Given the description of an element on the screen output the (x, y) to click on. 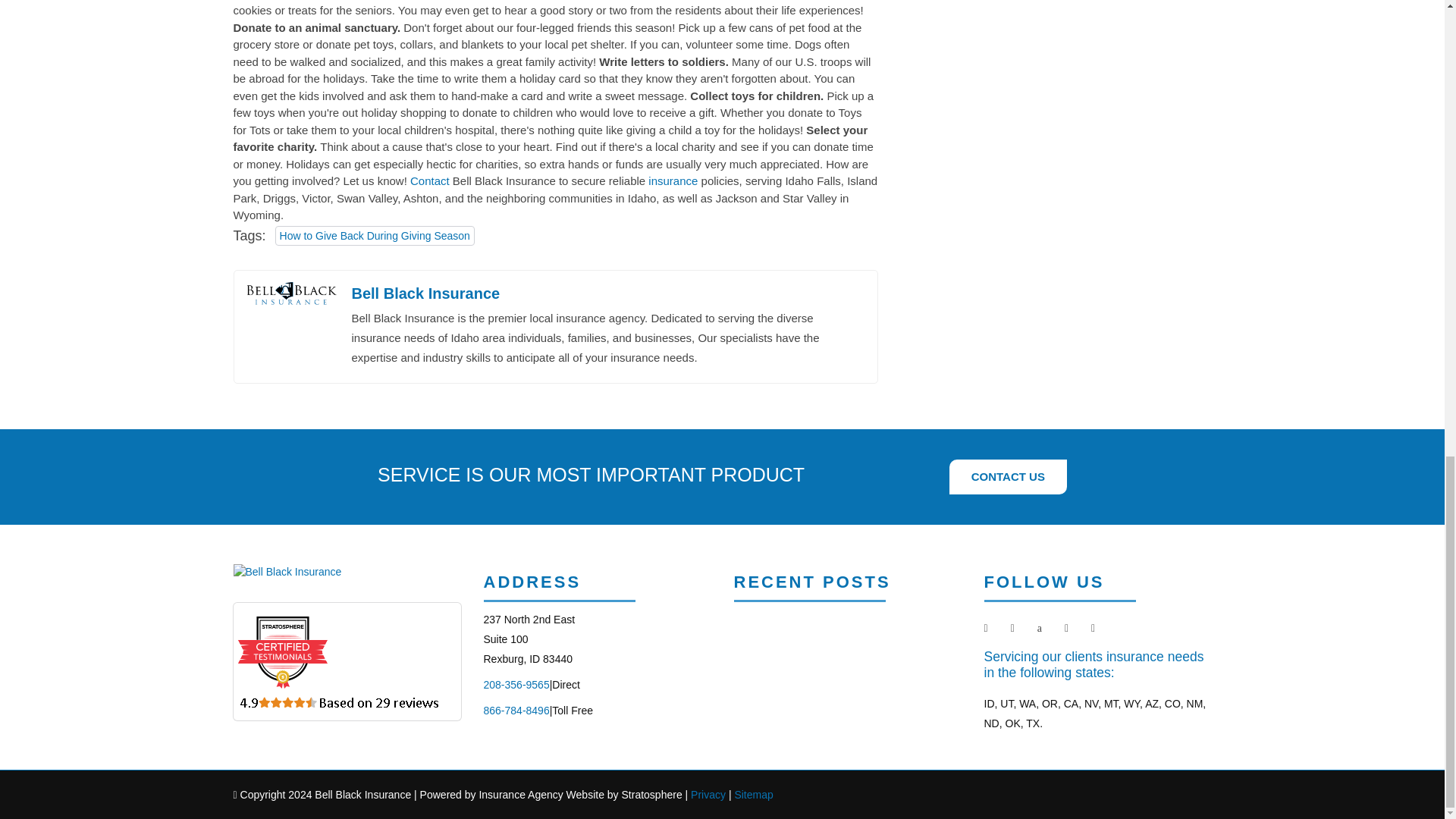
Bell Black Insurance (426, 292)
Privacy (707, 794)
How to Give Back During Giving Season (374, 235)
insurance (672, 181)
See all posts in How to Give Back During Giving Season (374, 235)
CONTACT US (1009, 477)
Insurance Agency Website by Stratosphere (597, 639)
Sitemap (580, 794)
